Given the description of an element on the screen output the (x, y) to click on. 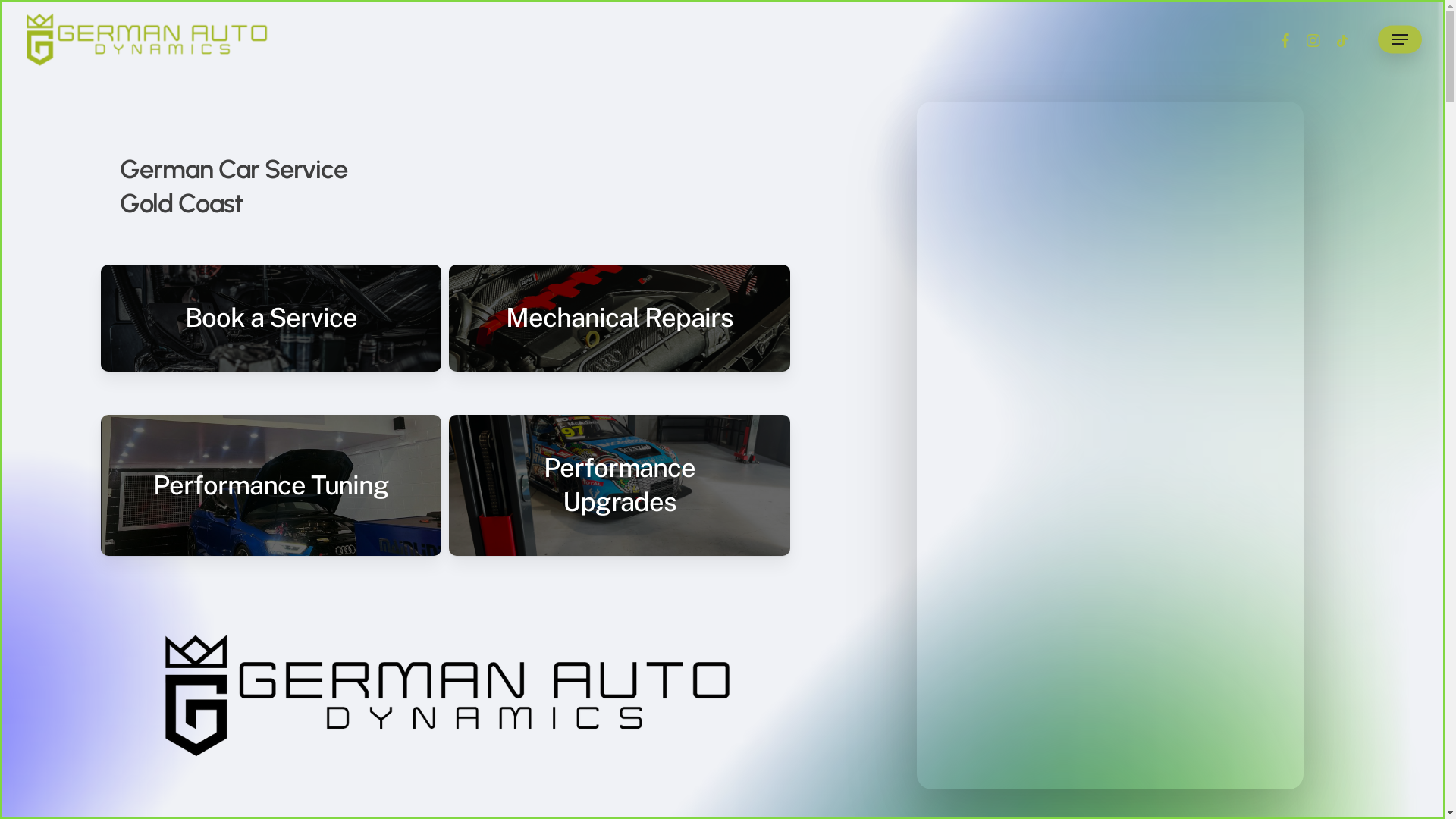
facebook Element type: text (1284, 38)
instagram Element type: text (1313, 38)
tiktok Element type: text (1341, 38)
Menu Element type: text (1399, 39)
